Given the description of an element on the screen output the (x, y) to click on. 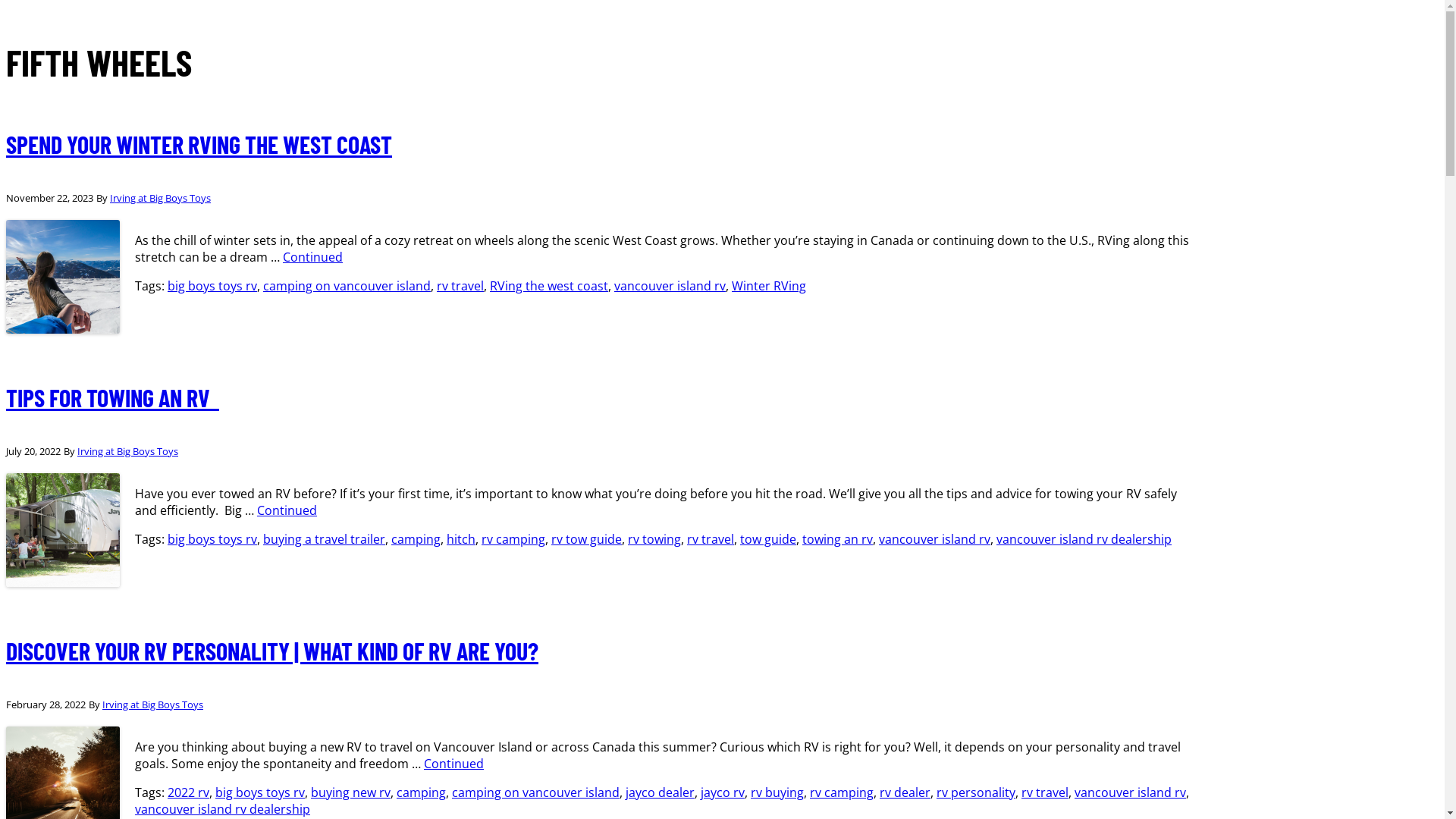
vancouver island rv dealership Element type: text (222, 808)
vancouver island rv dealership Element type: text (1083, 538)
jayco dealer Element type: text (659, 792)
Irving at Big Boys Toys Element type: text (152, 704)
RVing the west coast Element type: text (548, 285)
2022 rv Element type: text (188, 792)
big boys toys rv Element type: text (259, 792)
Continued Element type: text (286, 510)
camping on vancouver island Element type: text (535, 792)
tow guide Element type: text (768, 538)
buying new rv Element type: text (350, 792)
hitch Element type: text (460, 538)
rv travel Element type: text (1044, 792)
towing an rv Element type: text (837, 538)
big boys toys rv Element type: text (212, 538)
TIPS FOR TOWING AN RV   Element type: text (112, 396)
Continued Element type: text (453, 763)
vancouver island rv Element type: text (1130, 792)
rv personality Element type: text (975, 792)
Continued Element type: text (312, 256)
Irving at Big Boys Toys Element type: text (127, 451)
DISCOVER YOUR RV PERSONALITY | WHAT KIND OF RV ARE YOU? Element type: text (272, 650)
rv buying Element type: text (776, 792)
rv camping Element type: text (513, 538)
Winter RVing Element type: text (768, 285)
camping Element type: text (415, 538)
SPEND YOUR WINTER RVING THE WEST COAST Element type: text (199, 143)
vancouver island rv Element type: text (934, 538)
buying a travel trailer Element type: text (324, 538)
jayco rv Element type: text (722, 792)
rv travel Element type: text (710, 538)
camping on vancouver island Element type: text (346, 285)
rv camping Element type: text (841, 792)
rv travel Element type: text (459, 285)
rv tow guide Element type: text (586, 538)
big boys toys rv Element type: text (212, 285)
vancouver island rv Element type: text (669, 285)
Irving at Big Boys Toys Element type: text (159, 197)
rv dealer Element type: text (904, 792)
rv towing Element type: text (653, 538)
camping Element type: text (420, 792)
